Given the description of an element on the screen output the (x, y) to click on. 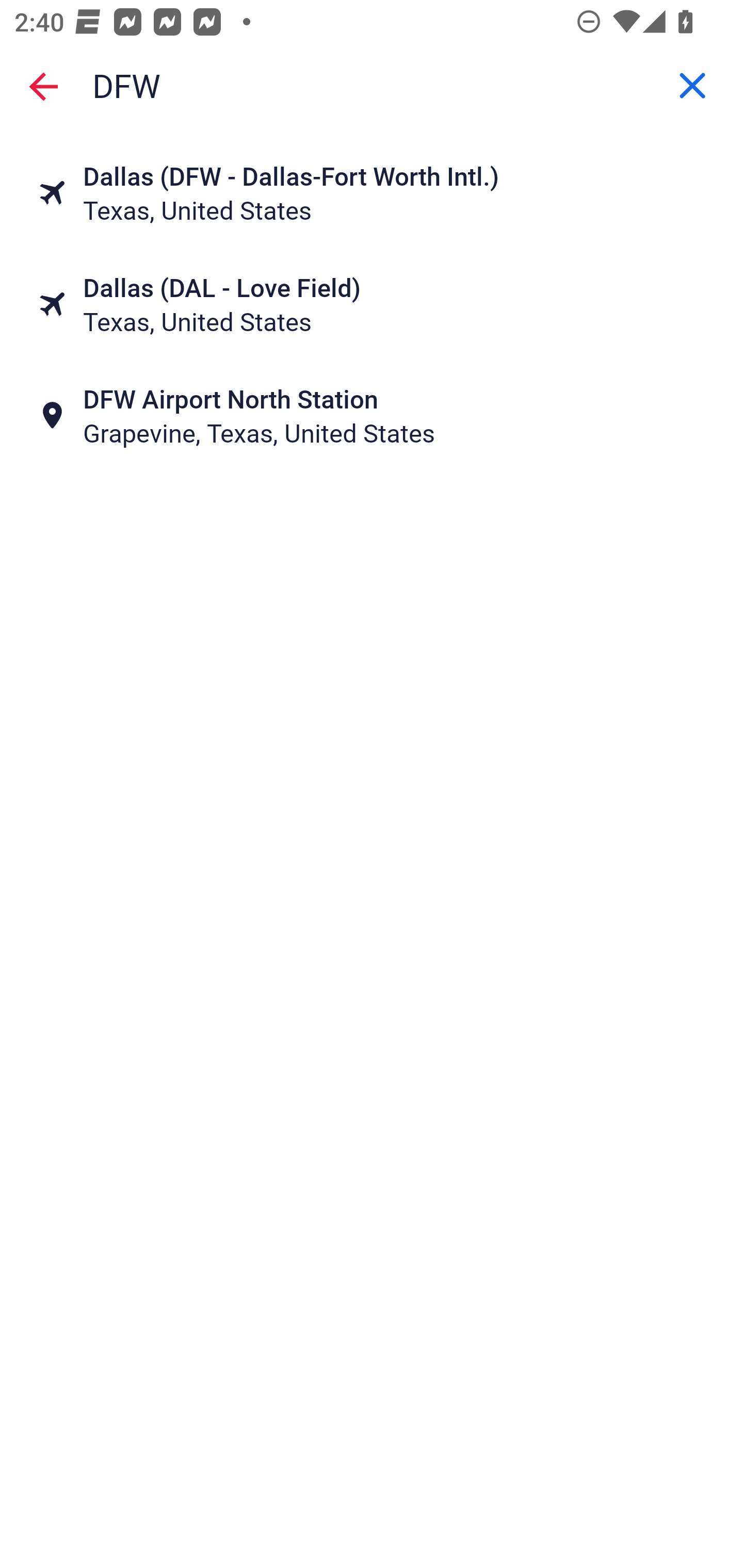
Clear Drop-off (692, 85)
Drop-off, DFW (371, 85)
Close search screen (43, 86)
